Given the description of an element on the screen output the (x, y) to click on. 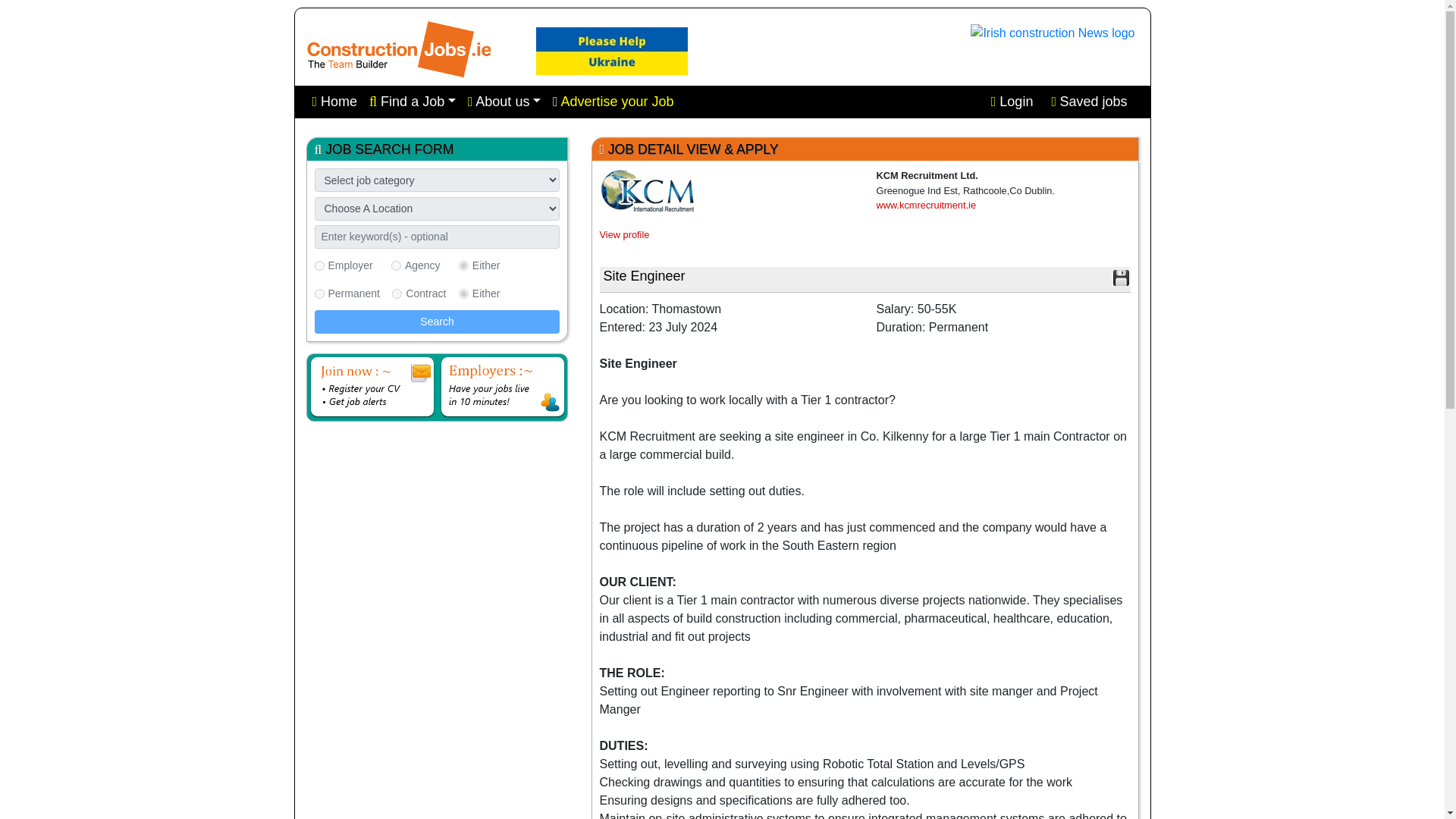
CONTRACT (396, 293)
About us (504, 101)
View profile (623, 234)
ANY (463, 266)
Search (436, 321)
Home (334, 101)
EMP (318, 266)
Login (1012, 101)
www.kcmrecruitment.ie (926, 204)
PERM (318, 293)
Advertise your Job (613, 101)
Find a Job (411, 101)
ANY (463, 293)
AGENCY (396, 266)
